Given the description of an element on the screen output the (x, y) to click on. 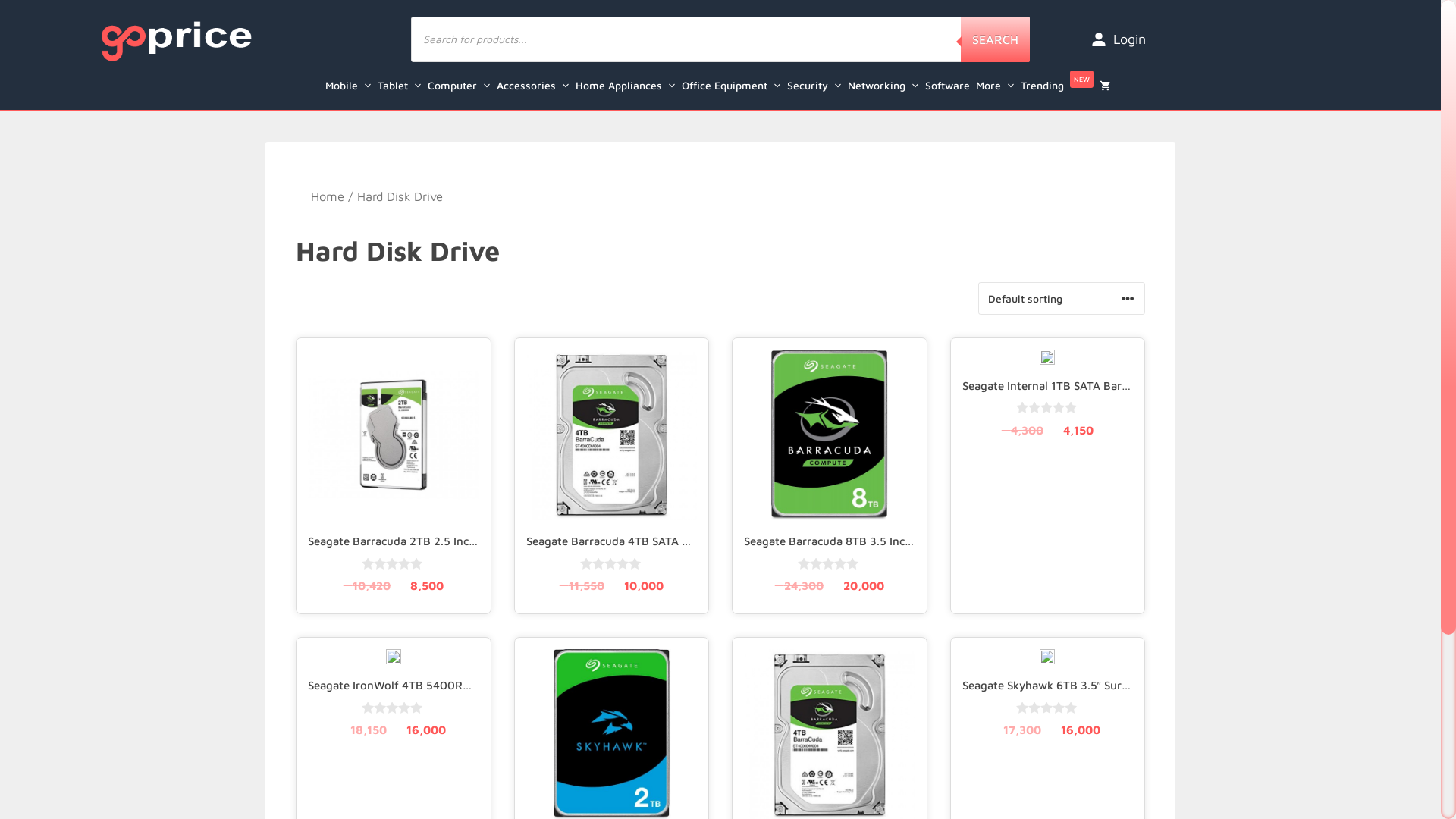
Not yet rated Element type: hover (611, 563)
More Element type: text (997, 85)
Accessories Element type: text (534, 85)
Not yet rated Element type: hover (1047, 707)
Login Element type: text (1118, 38)
Office Equipment Element type: text (733, 85)
Not yet rated Element type: hover (392, 563)
Security Element type: text (817, 85)
Networking Element type: text (886, 85)
Home Appliances Element type: text (627, 85)
Computer Element type: text (461, 85)
SEARCH Element type: text (994, 39)
Not yet rated Element type: hover (828, 563)
Mobile Element type: text (350, 85)
Not yet rated Element type: hover (1047, 407)
Software Element type: text (950, 85)
Tablet Element type: text (402, 85)
Not yet rated Element type: hover (392, 707)
View your shopping cart Element type: hover (1107, 85)
Home Element type: text (327, 195)
Trending NEW Element type: text (1059, 85)
